Given the description of an element on the screen output the (x, y) to click on. 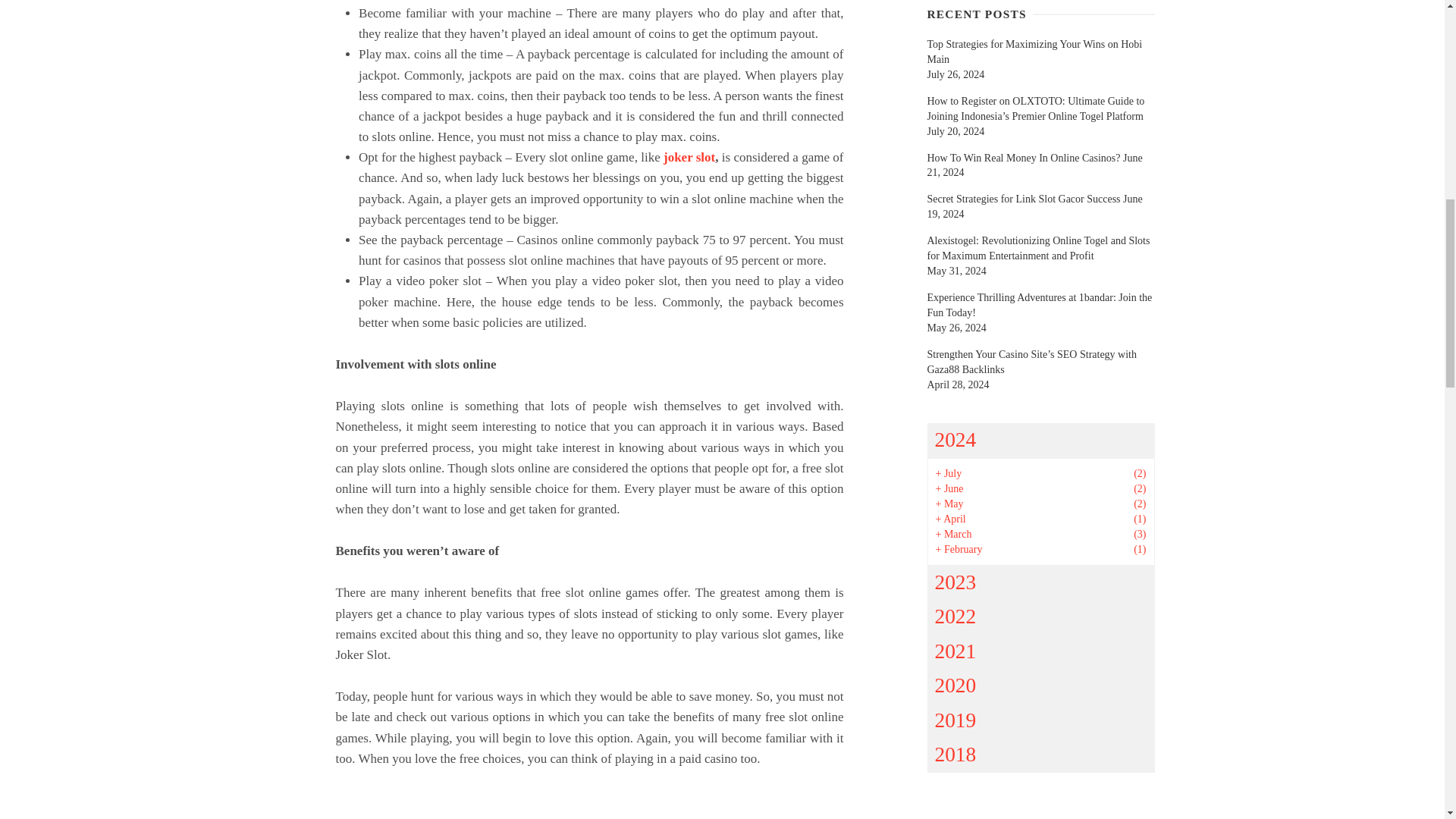
joker slot (688, 156)
